Given the description of an element on the screen output the (x, y) to click on. 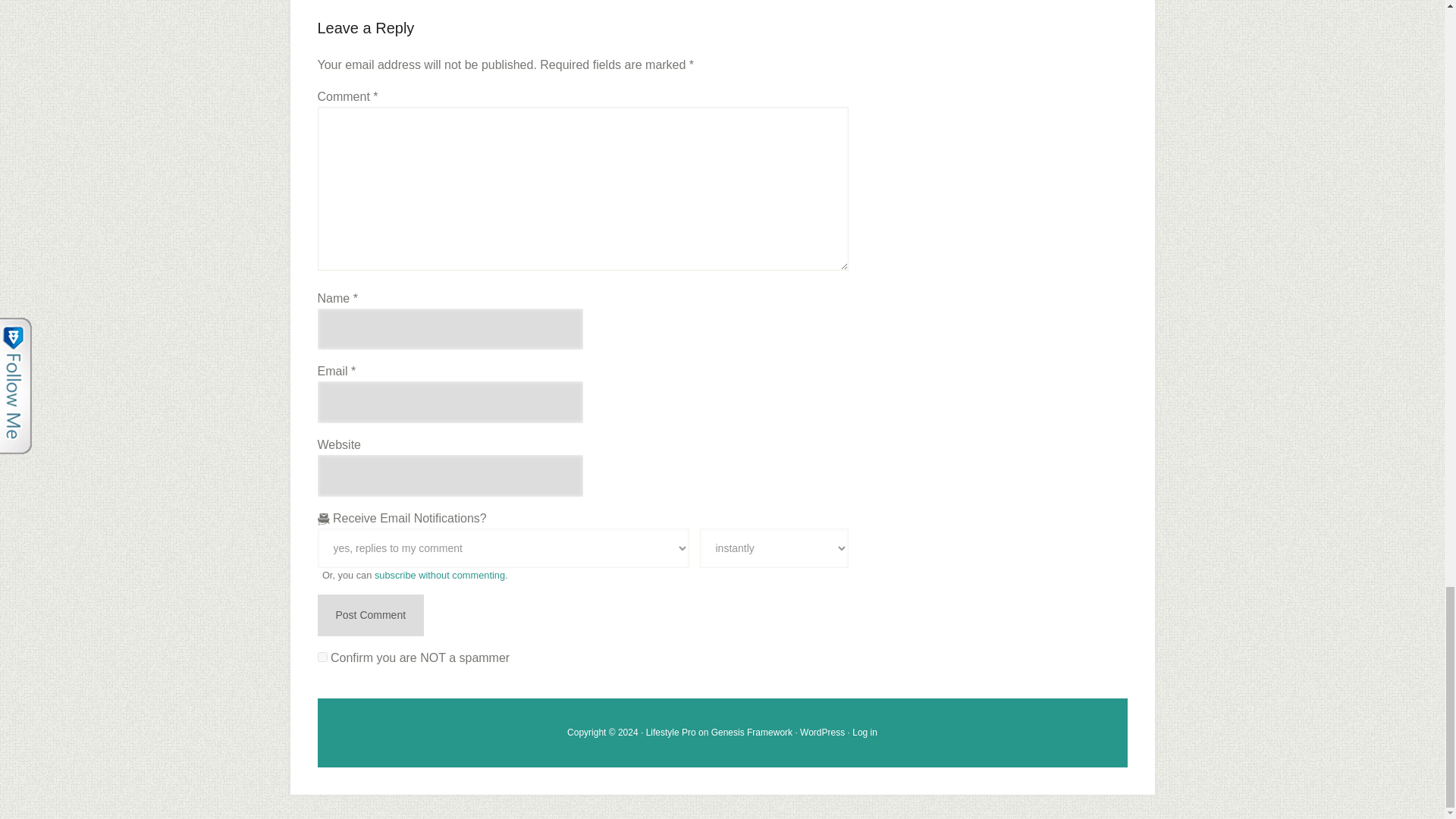
Log in (864, 732)
Post Comment (370, 615)
Lifestyle Pro (670, 732)
WordPress (821, 732)
on (321, 656)
Genesis Framework (751, 732)
subscribe without commenting (439, 574)
Notify Me (772, 548)
Receive Notifications? (502, 548)
Post Comment (370, 615)
